Given the description of an element on the screen output the (x, y) to click on. 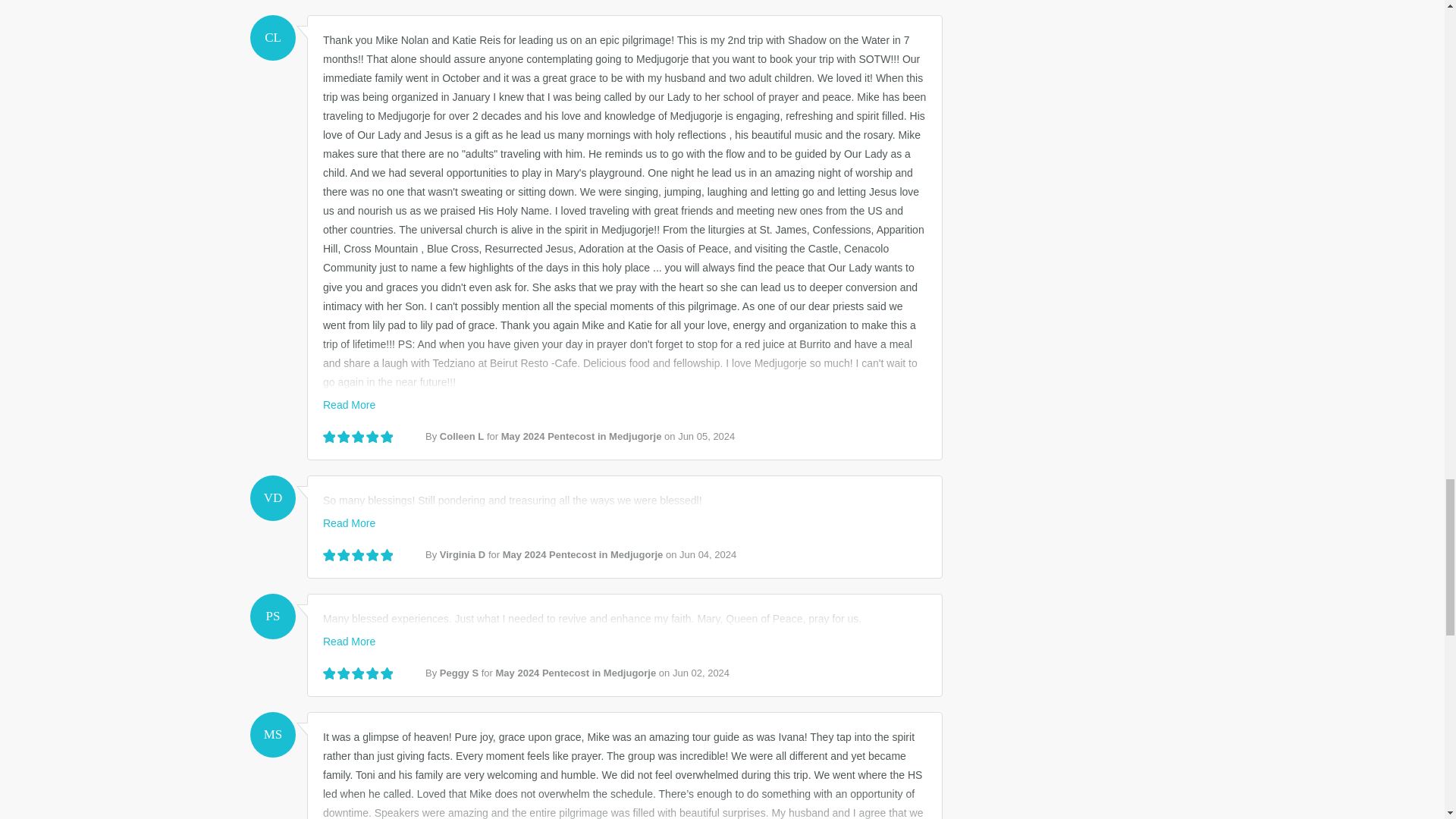
Read More (349, 404)
Read More (349, 522)
Read More (349, 641)
